Given the description of an element on the screen output the (x, y) to click on. 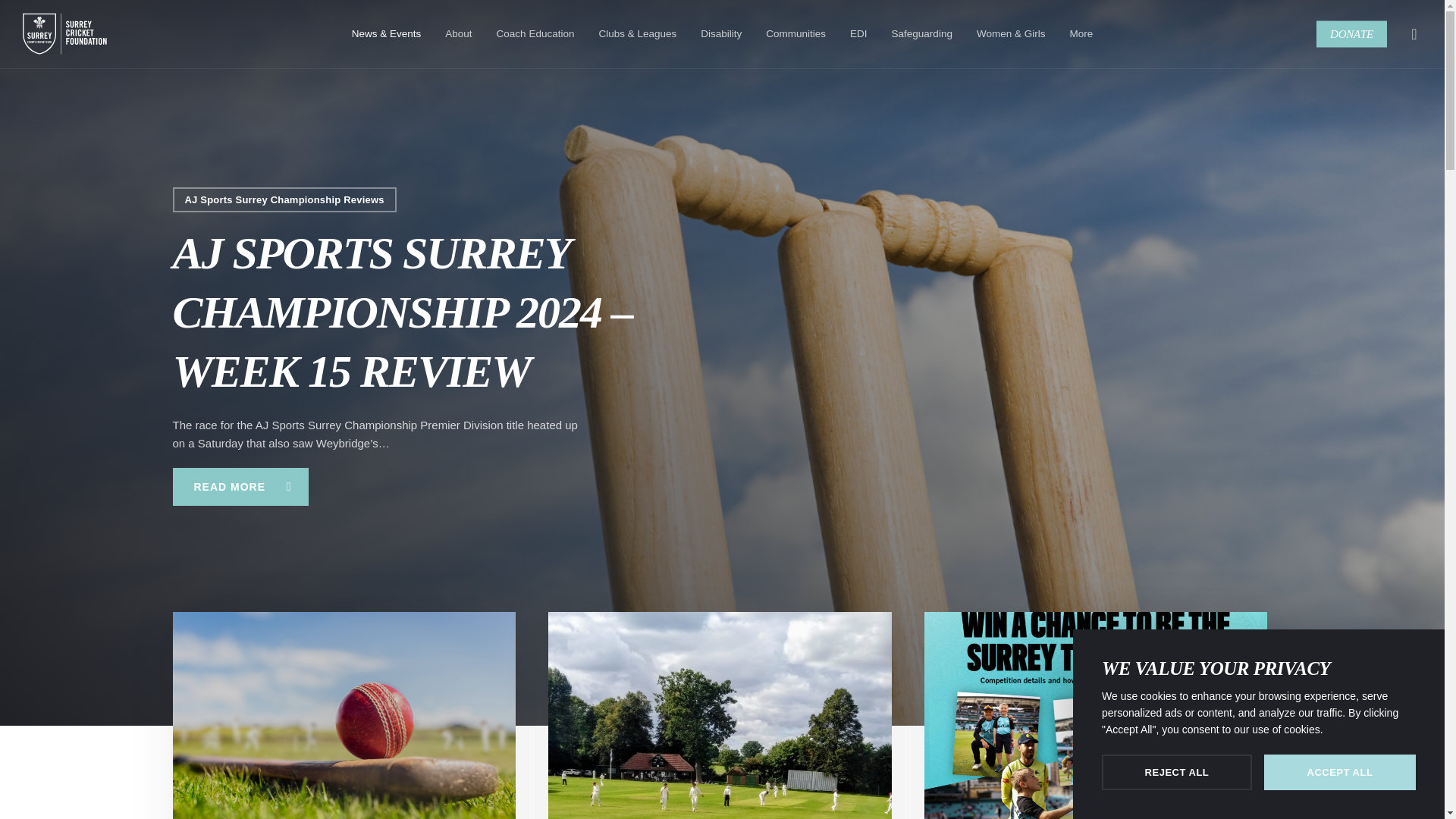
About (457, 33)
ACCEPT ALL (1339, 772)
REJECT ALL (1177, 772)
Coach Education (535, 33)
